Given the description of an element on the screen output the (x, y) to click on. 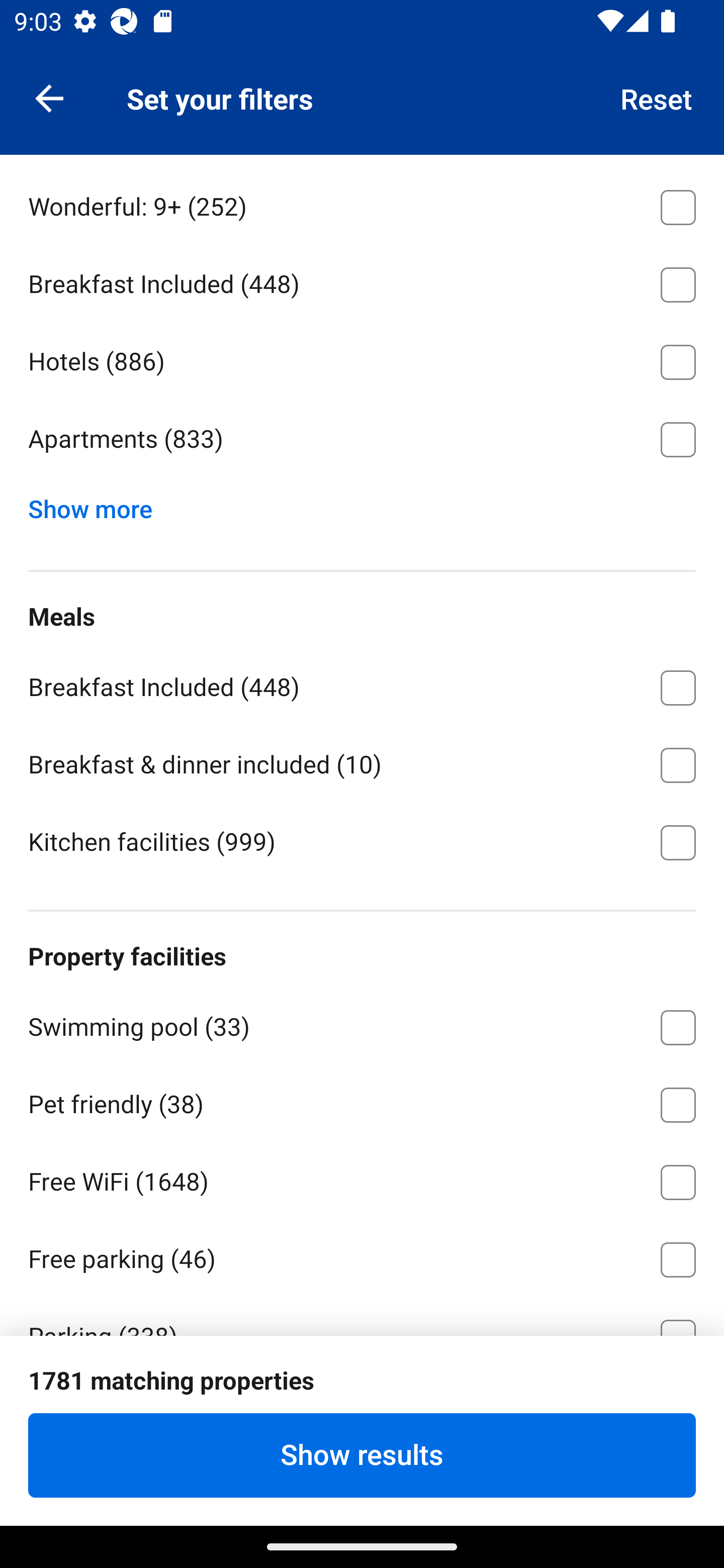
Navigate up (49, 97)
Reset (656, 97)
Wonderful: 9+ ⁦(252) (361, 203)
Breakfast Included ⁦(448) (361, 281)
Hotels ⁦(886) (361, 358)
Apartments ⁦(833) (361, 439)
Show more (97, 504)
Breakfast Included ⁦(448) (361, 684)
Breakfast & dinner included ⁦(10) (361, 761)
Kitchen facilities ⁦(999) (361, 841)
Swimming pool ⁦(33) (361, 1024)
Pet friendly ⁦(38) (361, 1101)
Free WiFi ⁦(1648) (361, 1178)
Free parking ⁦(46) (361, 1256)
Show results (361, 1454)
